Given the description of an element on the screen output the (x, y) to click on. 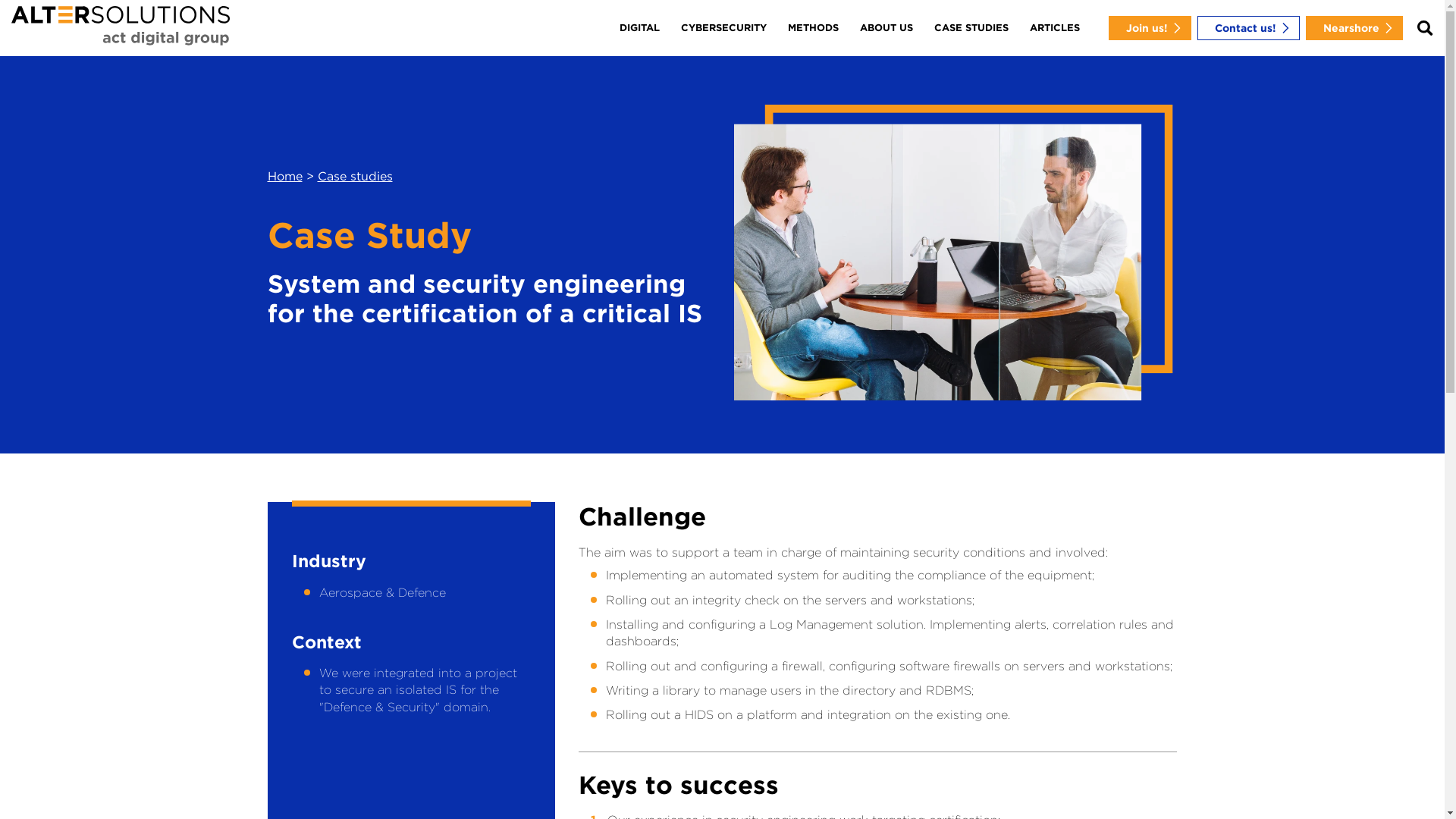
CYBERSECURITY Element type: text (723, 28)
ARTICLES Element type: text (1054, 28)
Nearshore Element type: text (1353, 27)
ABOUT US Element type: text (886, 28)
DIGITAL Element type: text (638, 28)
Case studies Element type: text (354, 176)
Contact us! Element type: text (1247, 27)
CASE STUDIES Element type: text (971, 28)
METHODS Element type: text (812, 28)
Home Element type: text (283, 176)
Join us! Element type: text (1149, 27)
